Given the description of an element on the screen output the (x, y) to click on. 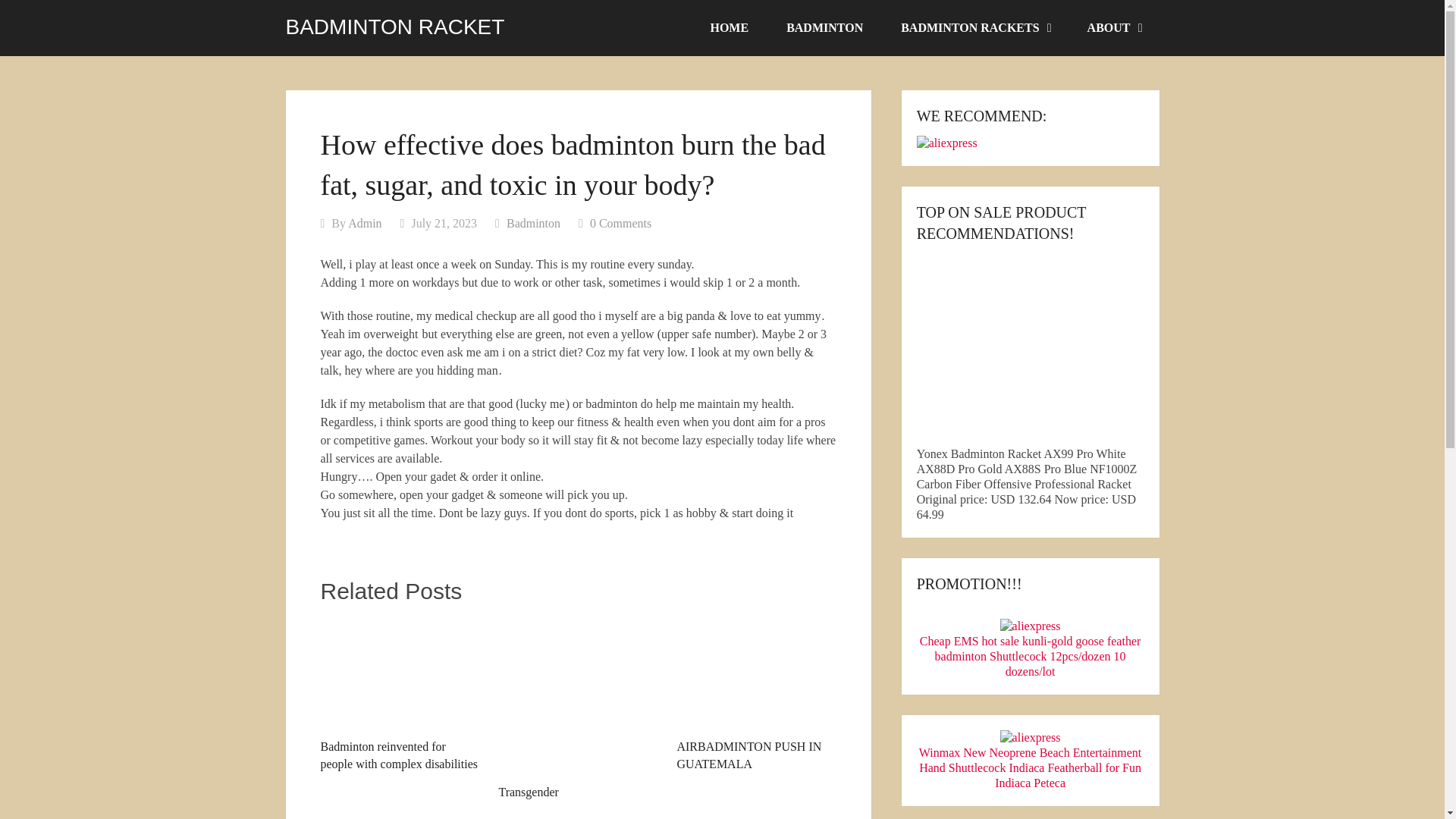
ABOUT (1113, 28)
AIRBADMINTON PUSH IN GUATEMALA (756, 694)
Admin (364, 223)
BADMINTON RACKET (394, 26)
HOME (728, 28)
Badminton reinvented for people with complex disabilities (399, 694)
BADMINTON (824, 28)
